Given the description of an element on the screen output the (x, y) to click on. 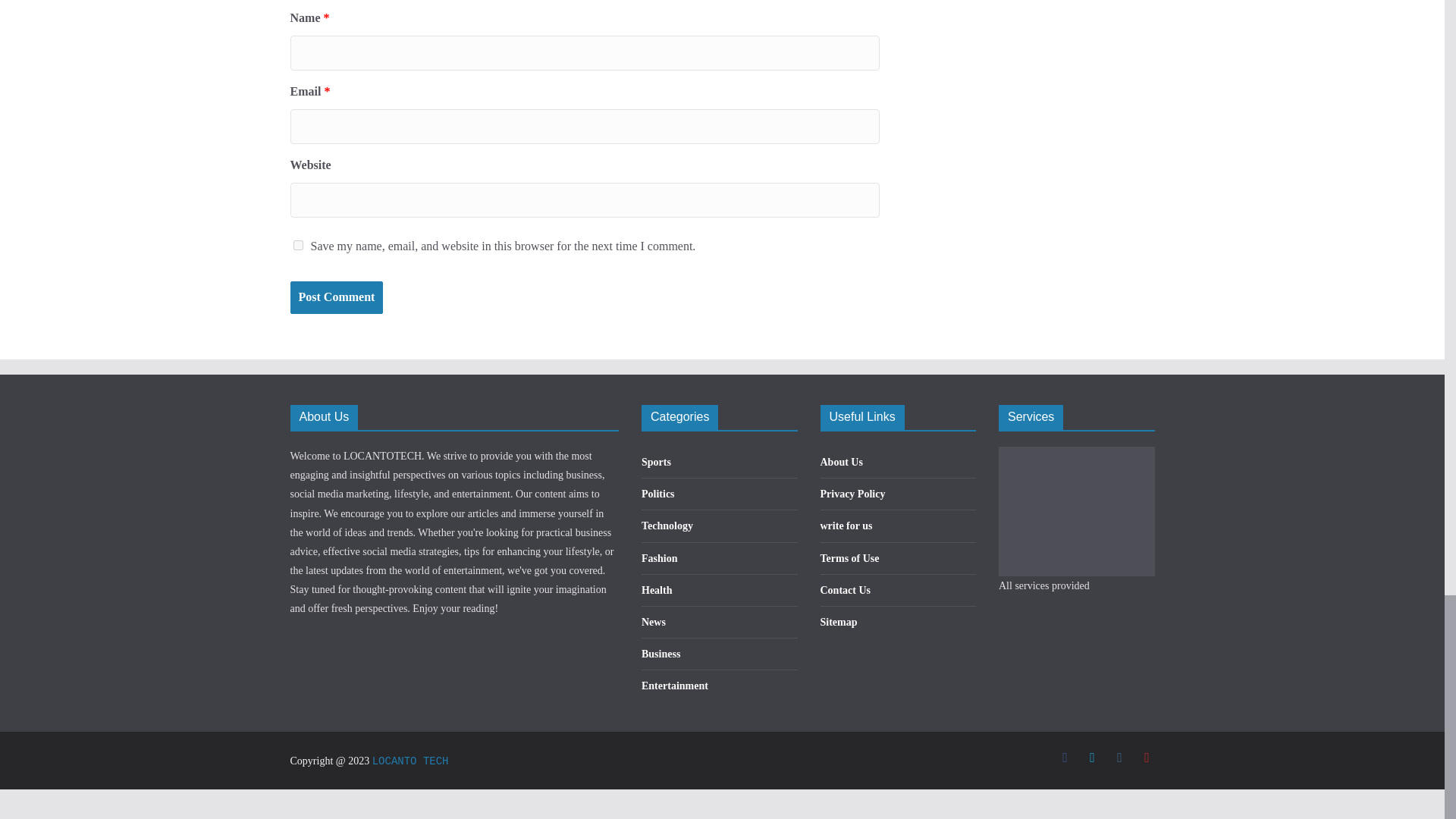
Post Comment (335, 297)
yes (297, 245)
